Given the description of an element on the screen output the (x, y) to click on. 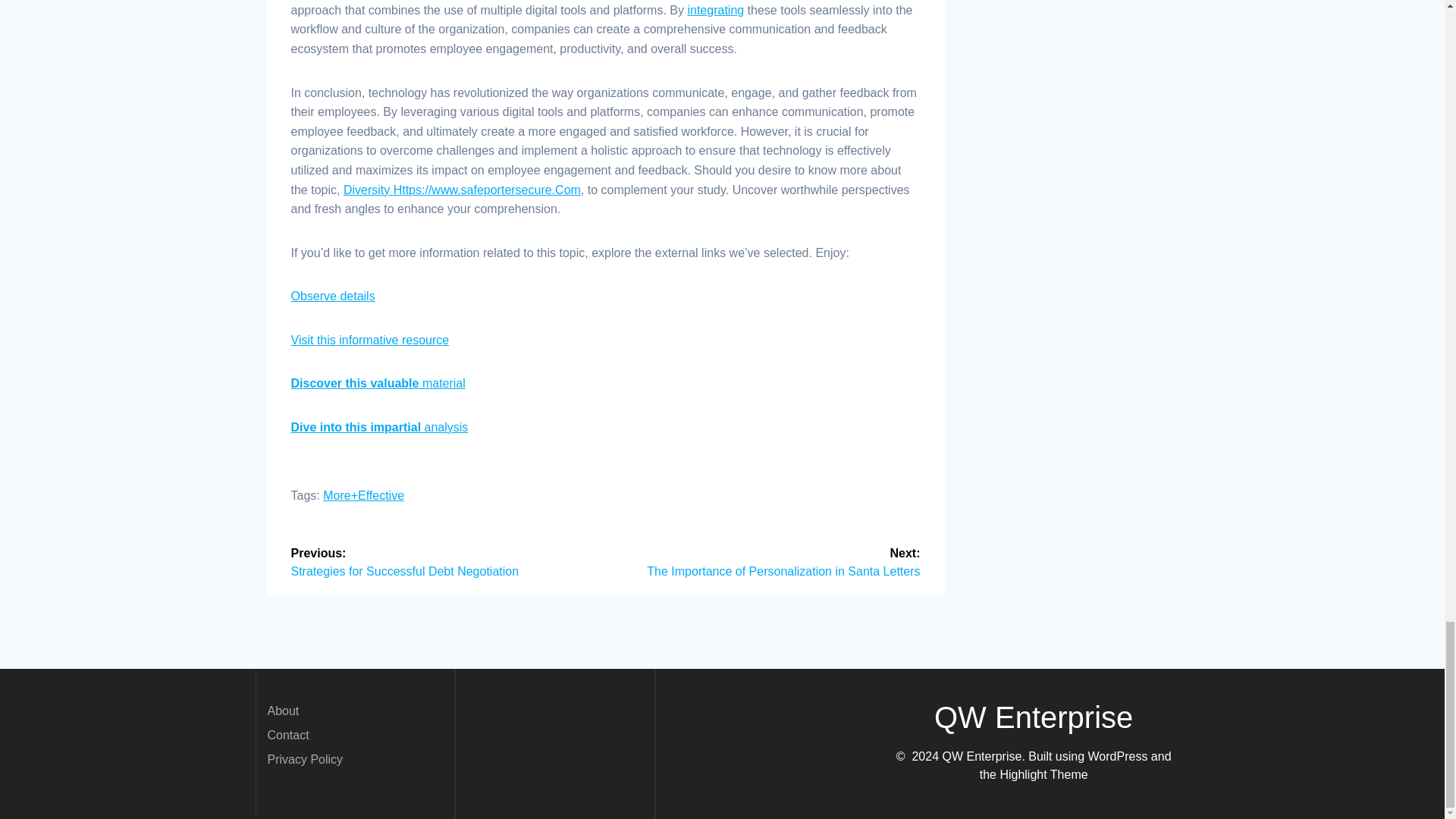
Privacy Policy (304, 758)
Discover this valuable material (378, 382)
Dive into this impartial analysis (379, 427)
Visit this informative resource (370, 339)
About (282, 710)
Contact (287, 735)
Observe details (333, 295)
integrating (715, 10)
